Given the description of an element on the screen output the (x, y) to click on. 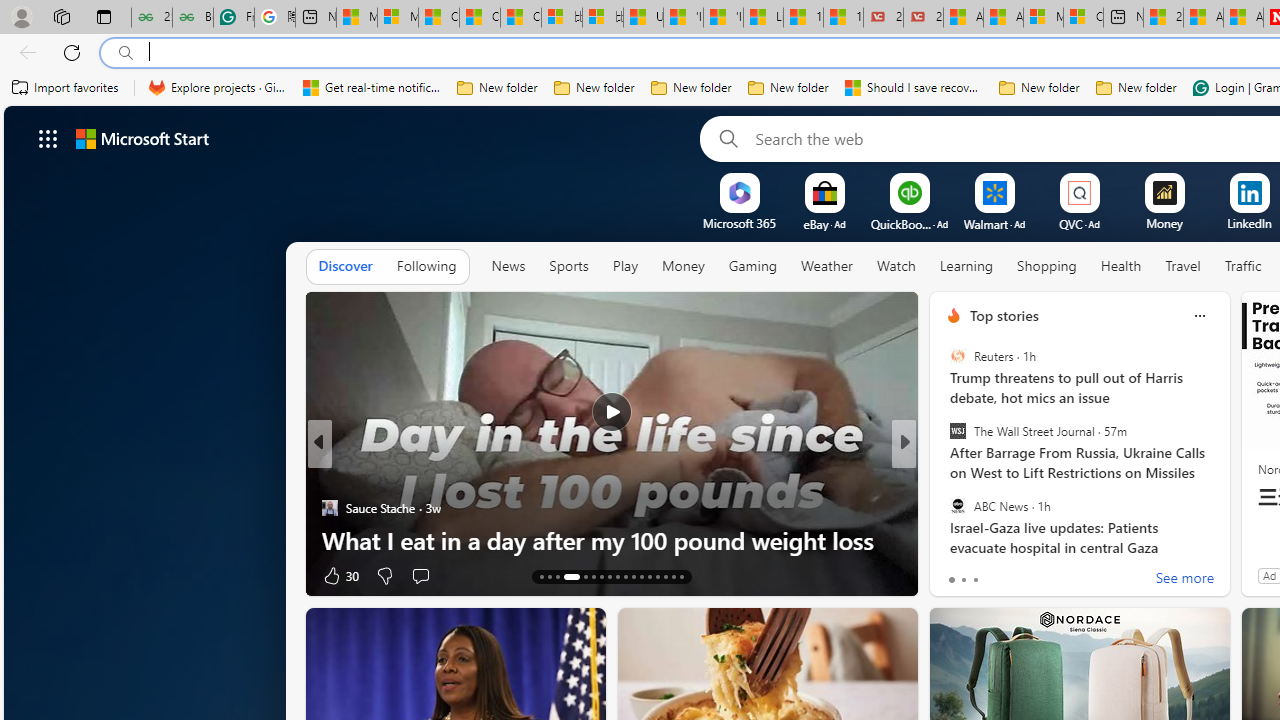
Sports (568, 265)
Play (625, 267)
ABC News (957, 505)
9 Like (952, 574)
Learning (966, 267)
View comments 2 Comment (1035, 574)
View comments 59 Comment (1042, 575)
842 Like (959, 574)
View comments 2 Comment (1028, 575)
